Given the description of an element on the screen output the (x, y) to click on. 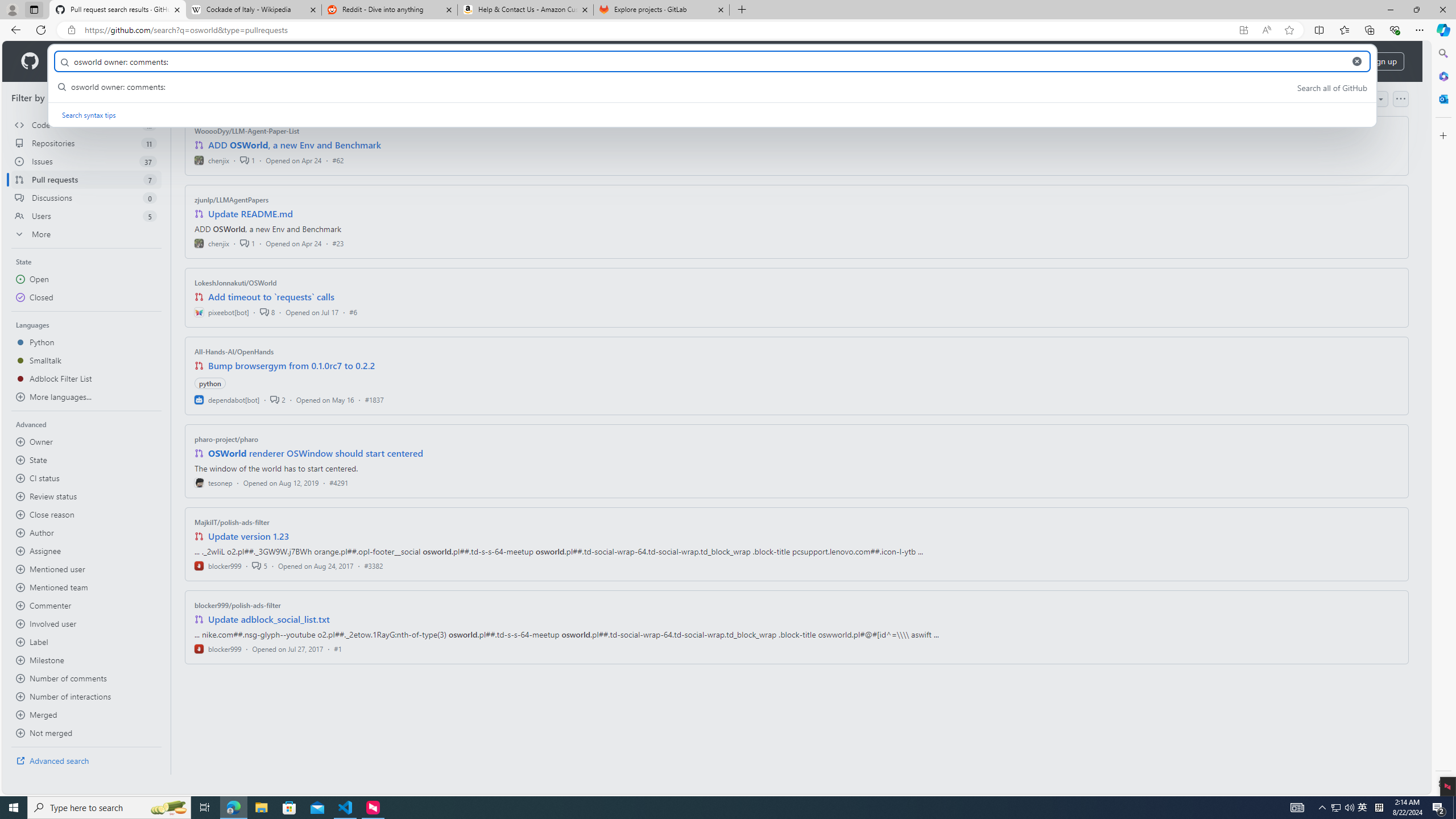
LokeshJonnakuti/OSWorld (235, 282)
Update version 1.23 (248, 535)
Open Source (254, 60)
#1837 (374, 398)
